Given the description of an element on the screen output the (x, y) to click on. 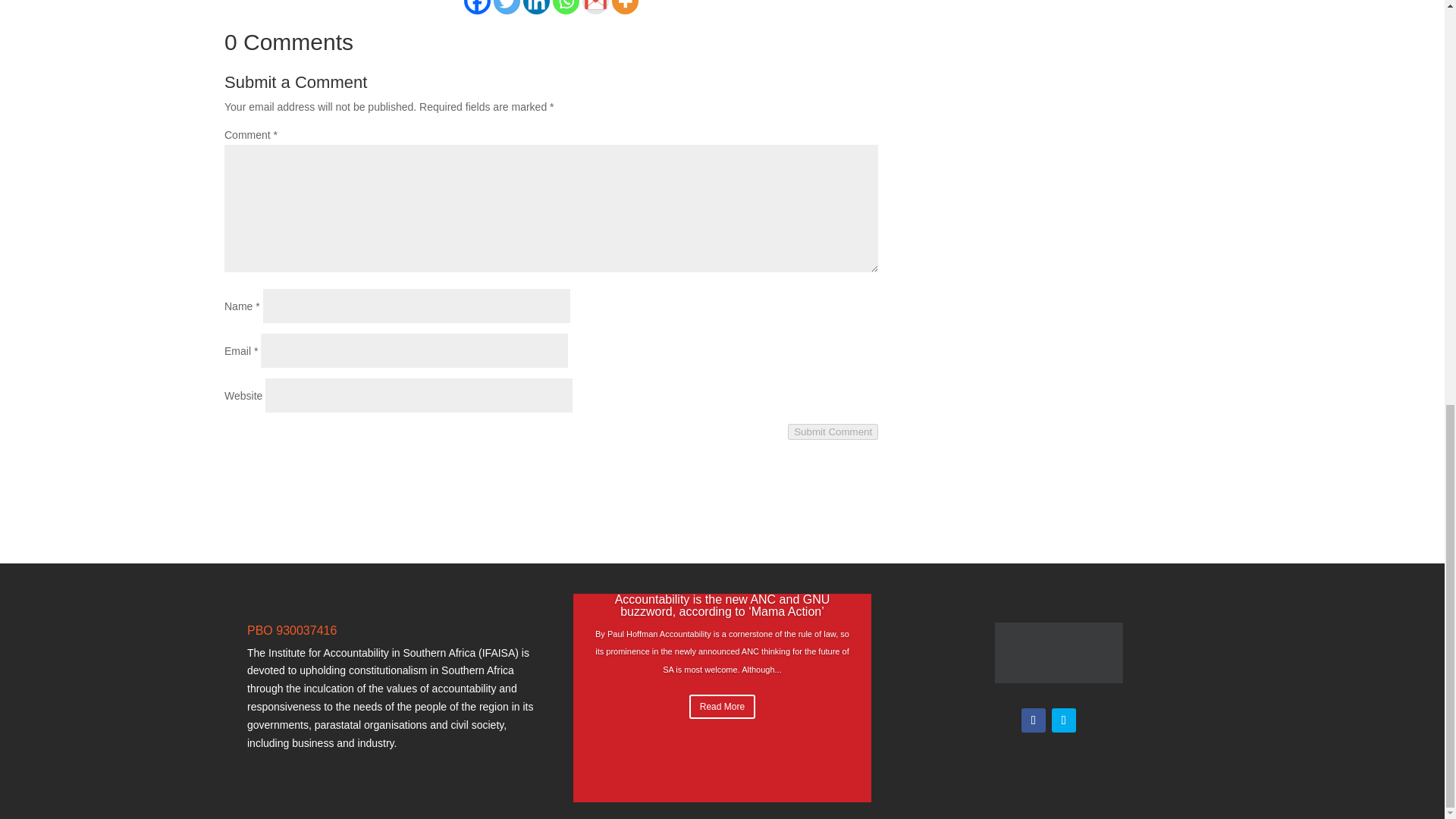
Twitter (506, 7)
More (625, 7)
Facebook (477, 7)
Whatsapp (566, 7)
Linkedin (536, 7)
Google Gmail (595, 7)
